Given the description of an element on the screen output the (x, y) to click on. 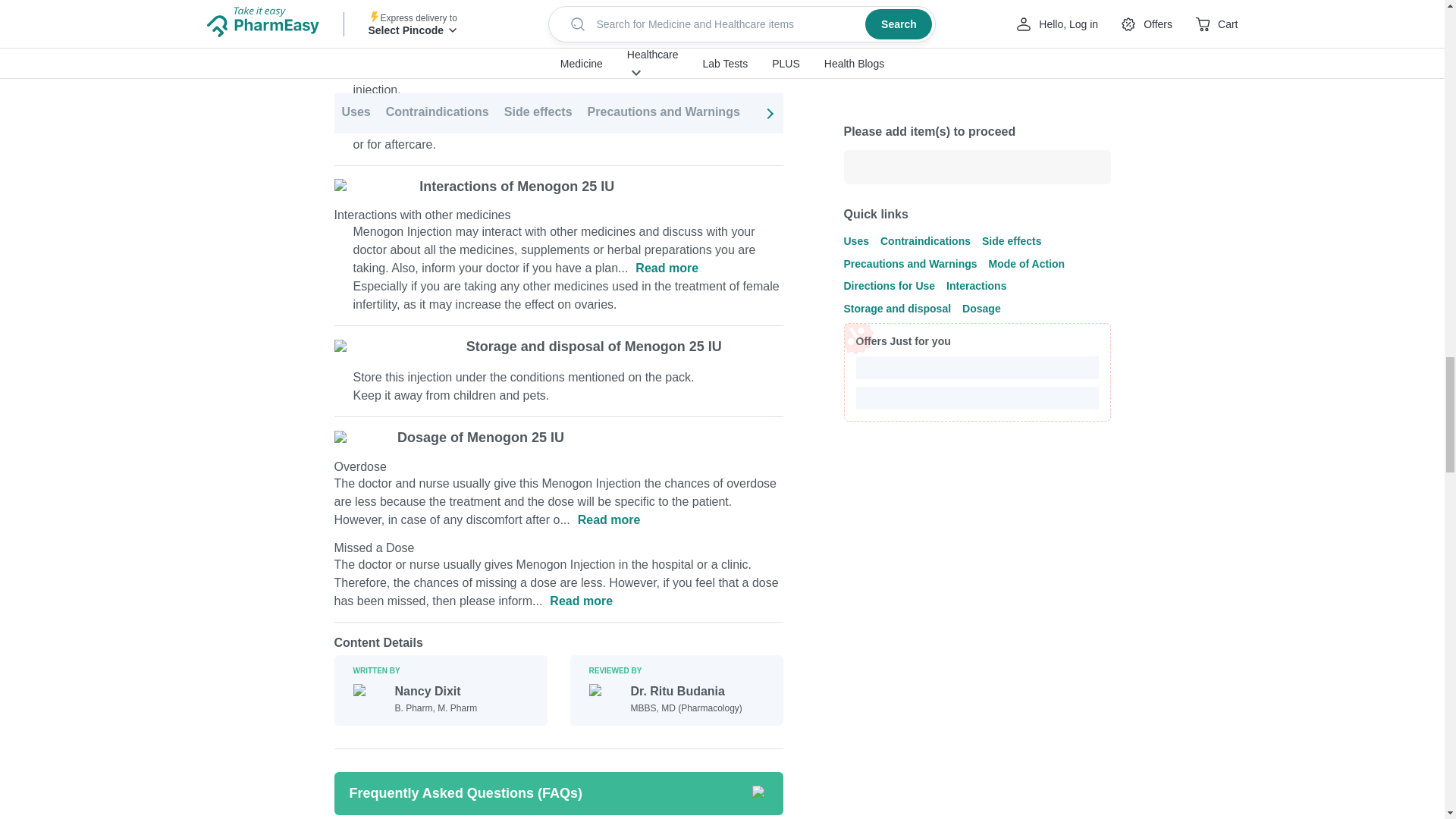
Nancy Dixit (435, 691)
Dr. Ritu Budania (686, 691)
